Given the description of an element on the screen output the (x, y) to click on. 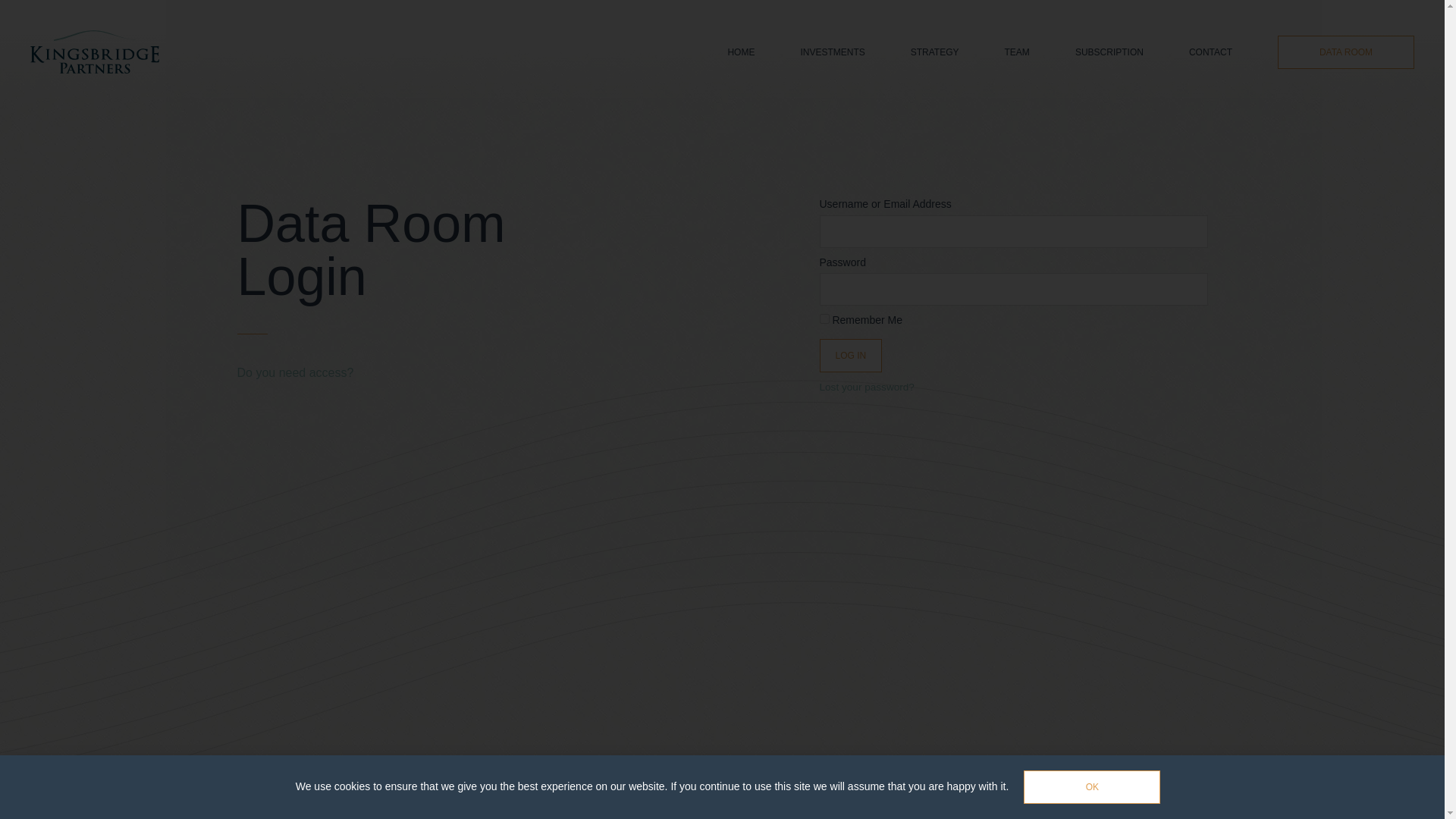
OK (1091, 786)
LOG IN (850, 355)
SUBSCRIPTION (1108, 52)
Lost your password? (866, 386)
forever (823, 318)
CONTACT (1210, 52)
DATA ROOM (1345, 52)
STRATEGY (935, 52)
Do you need access? (294, 372)
INVESTMENTS (831, 52)
